Given the description of an element on the screen output the (x, y) to click on. 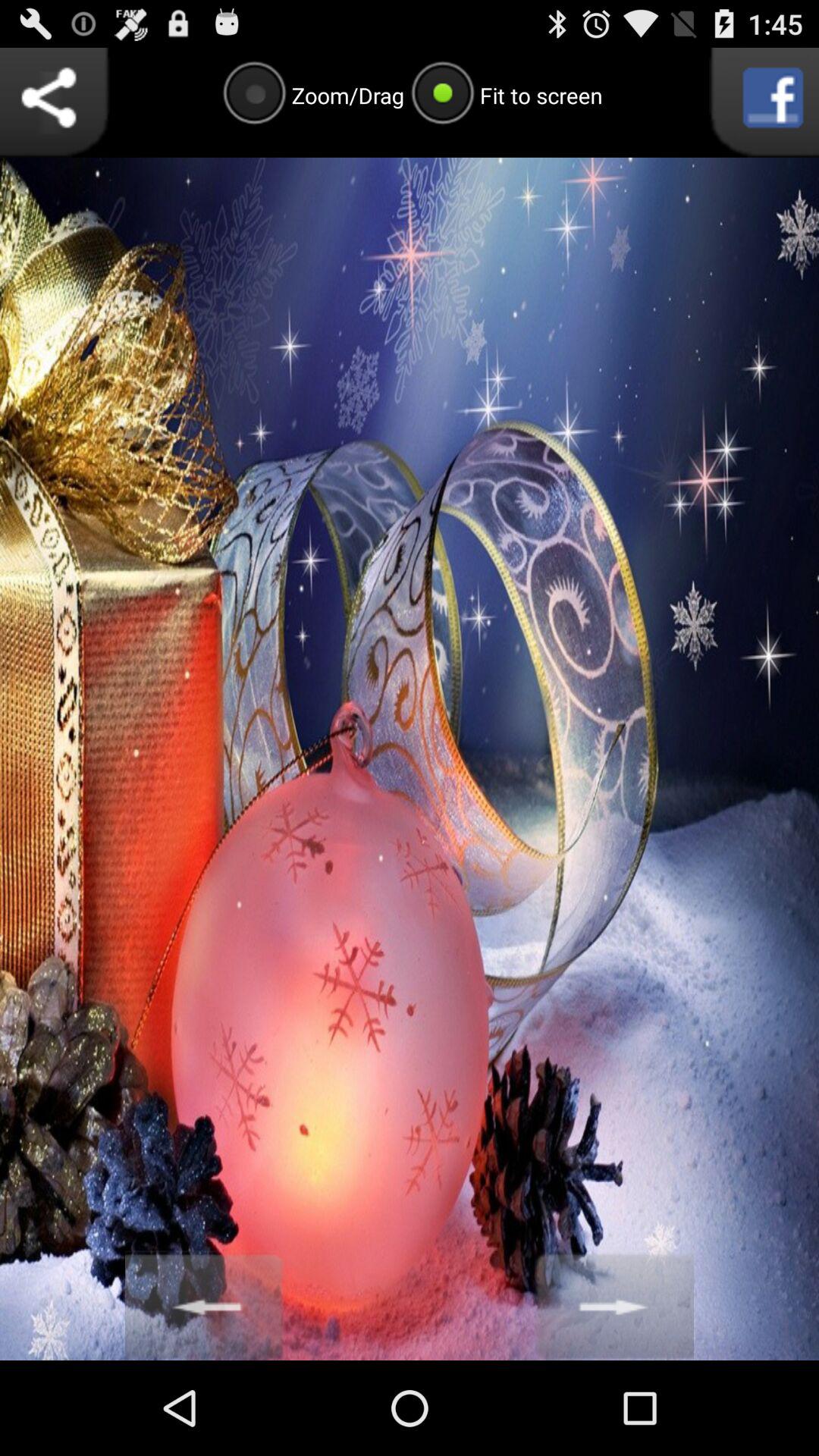
go back (204, 1305)
